Given the description of an element on the screen output the (x, y) to click on. 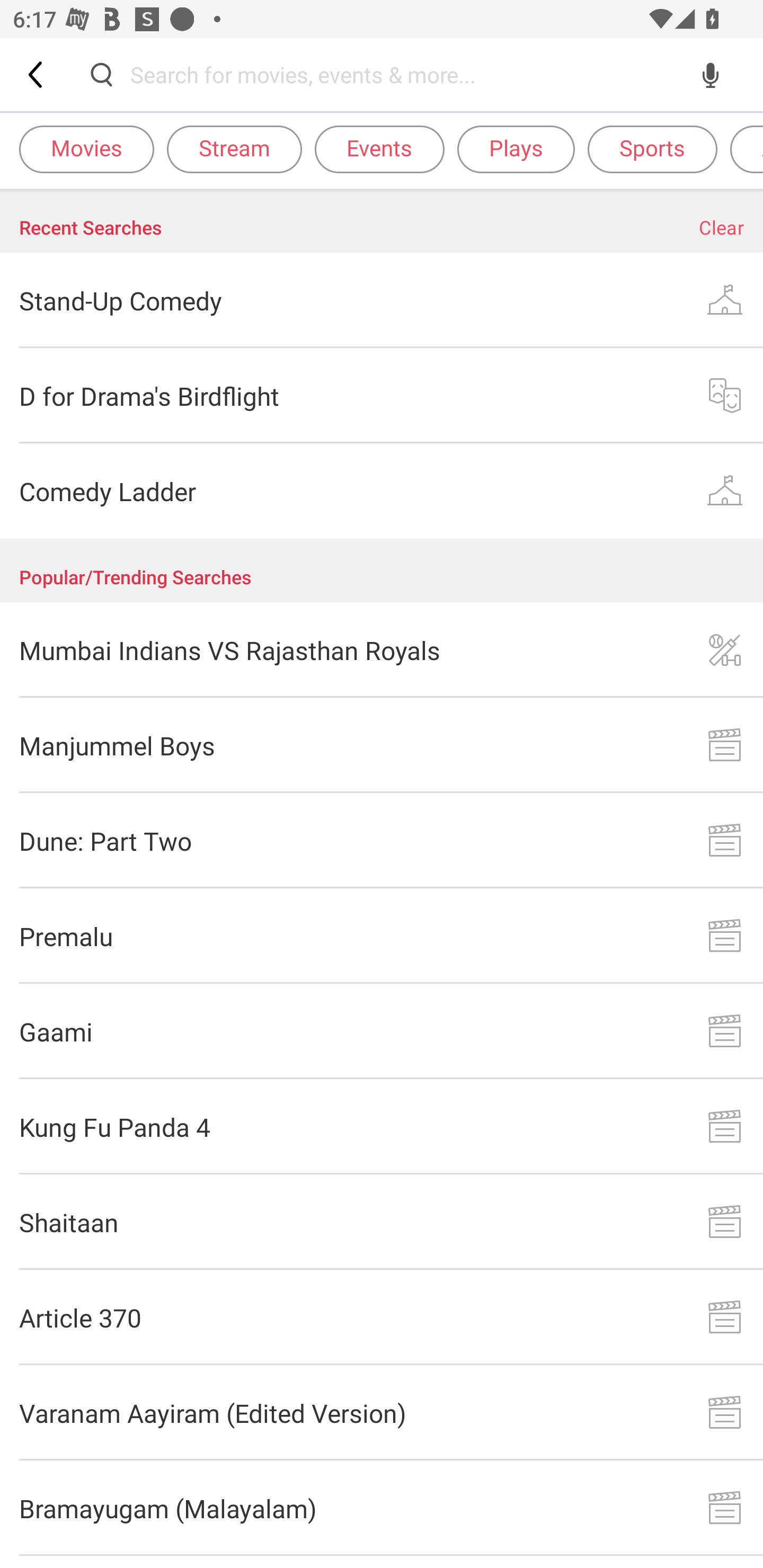
Back (36, 74)
Search for movies, events & more... (406, 74)
Movies (86, 148)
Stream (234, 148)
Events (379, 148)
Plays (515, 148)
Sports (652, 148)
Recent Searches Clear (381, 220)
Stand-Up Comedy (381, 300)
D for Drama's Birdflight (381, 395)
Comedy Ladder (381, 491)
Popular/Trending Searches (381, 570)
Mumbai Indians VS Rajasthan Royals (381, 649)
Manjummel Boys (381, 745)
Dune: Part Two (381, 841)
Premalu (381, 936)
Gaami (381, 1030)
Kung Fu Panda 4 (381, 1126)
Shaitaan (381, 1222)
Article 370 (381, 1317)
Varanam Aayiram (Edited Version) (381, 1412)
Bramayugam (Malayalam) (381, 1507)
